Given the description of an element on the screen output the (x, y) to click on. 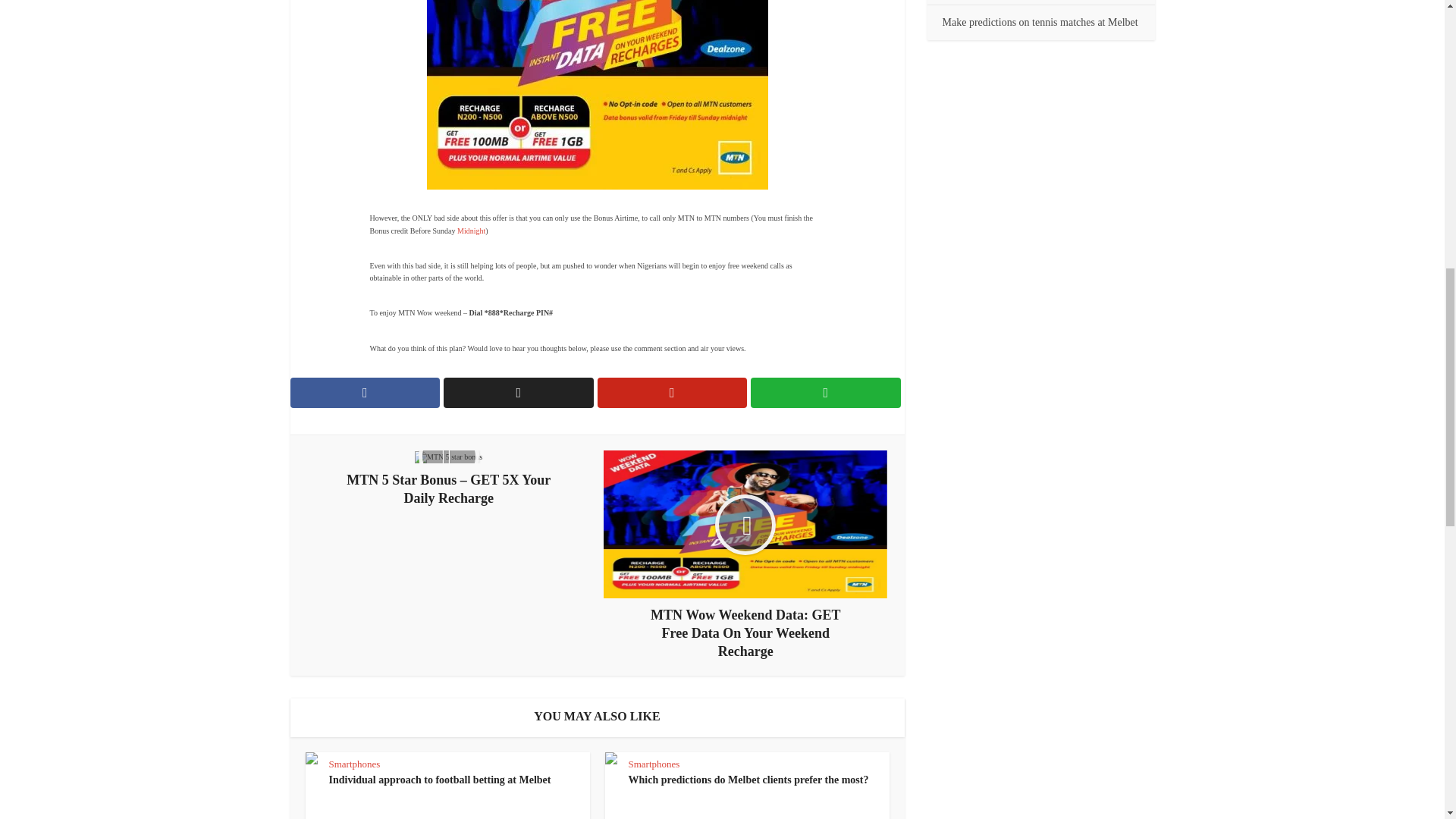
Which predictions do Melbet clients prefer the most? (747, 779)
Individual approach to football betting at Melbet (440, 779)
mtn wow weekend promo (596, 94)
